Given the description of an element on the screen output the (x, y) to click on. 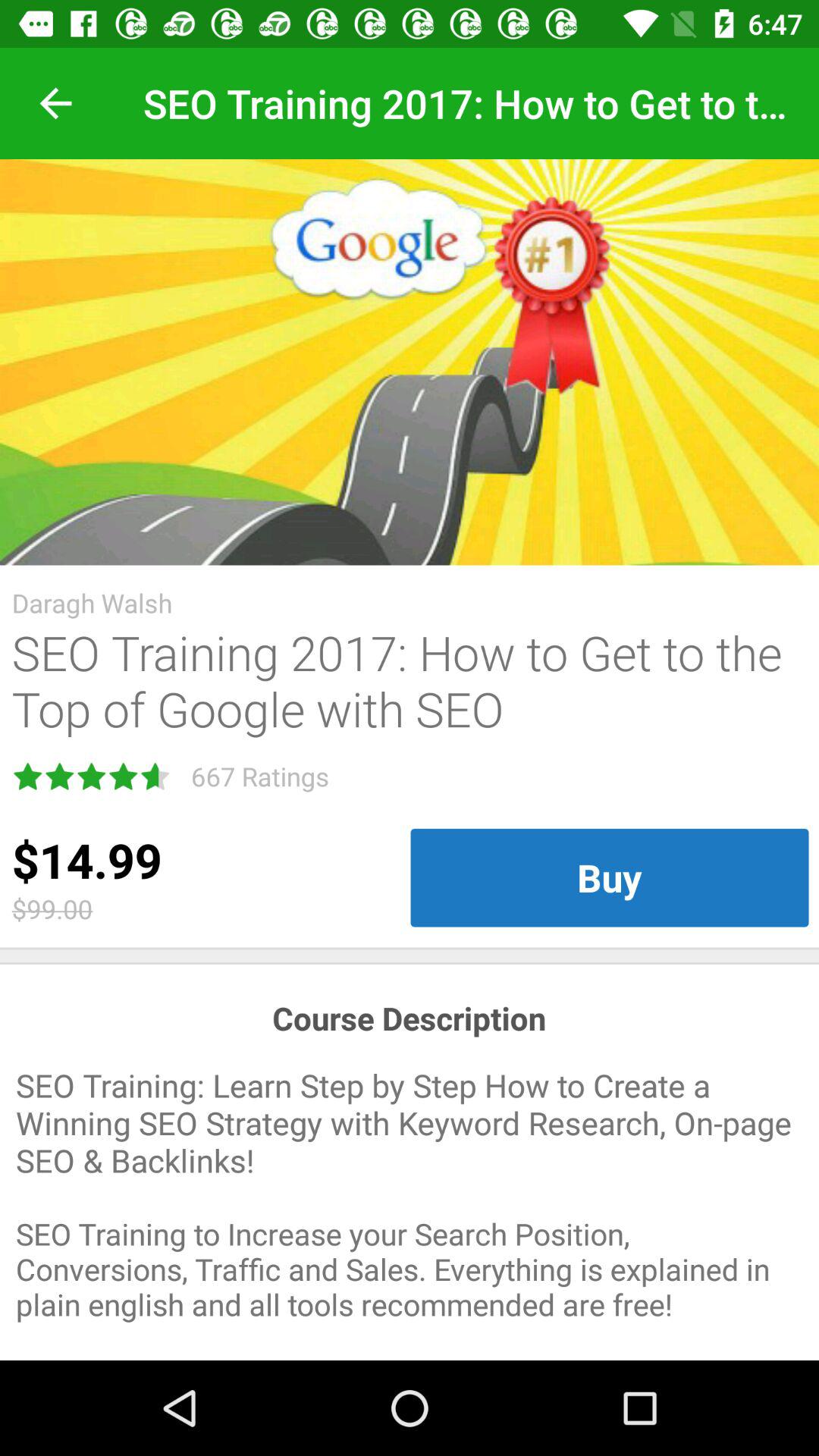
turn on the item above the daragh walsh (409, 362)
